Given the description of an element on the screen output the (x, y) to click on. 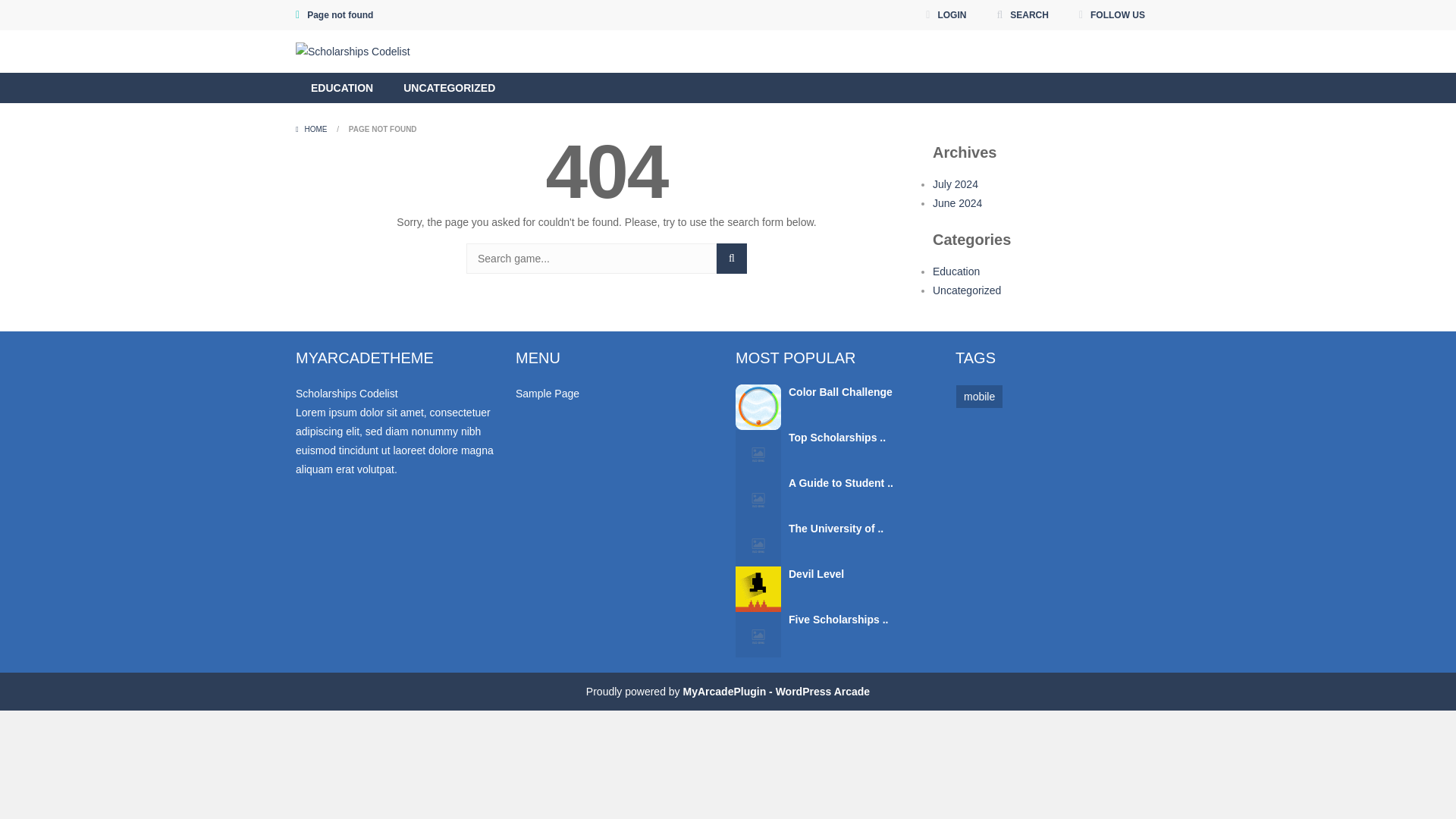
HOME (312, 129)
Scholarships Codelist (346, 393)
Top Scholarships .. (837, 437)
Uncategorized (967, 290)
FOLLOW US (1111, 15)
The University of .. (836, 528)
A Guide to Student Loans Without Cosigners (757, 497)
mobile (979, 395)
Education (956, 271)
Devil Level (757, 588)
July 2024 (955, 184)
LOGIN (945, 15)
UNCATEGORIZED (449, 87)
Home (312, 129)
